Given the description of an element on the screen output the (x, y) to click on. 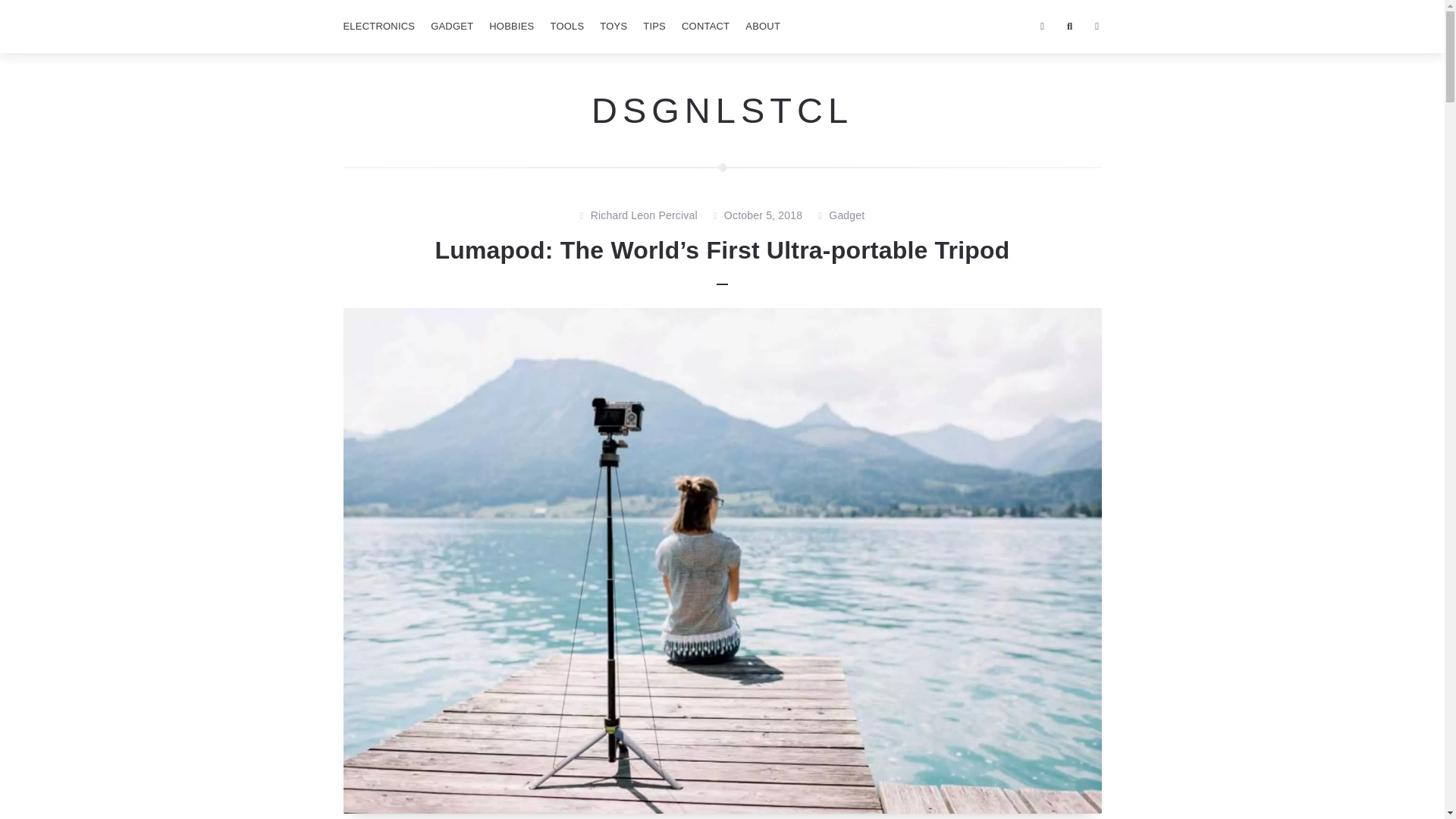
October 5, 2018 (762, 216)
ABOUT (762, 26)
Gadget (846, 216)
CONTACT (705, 26)
GADGET (451, 26)
Richard Leon Percival (644, 216)
TOOLS (566, 26)
HOBBIES (511, 26)
ELECTRONICS (378, 26)
DSGNLSTCL (722, 110)
